Given the description of an element on the screen output the (x, y) to click on. 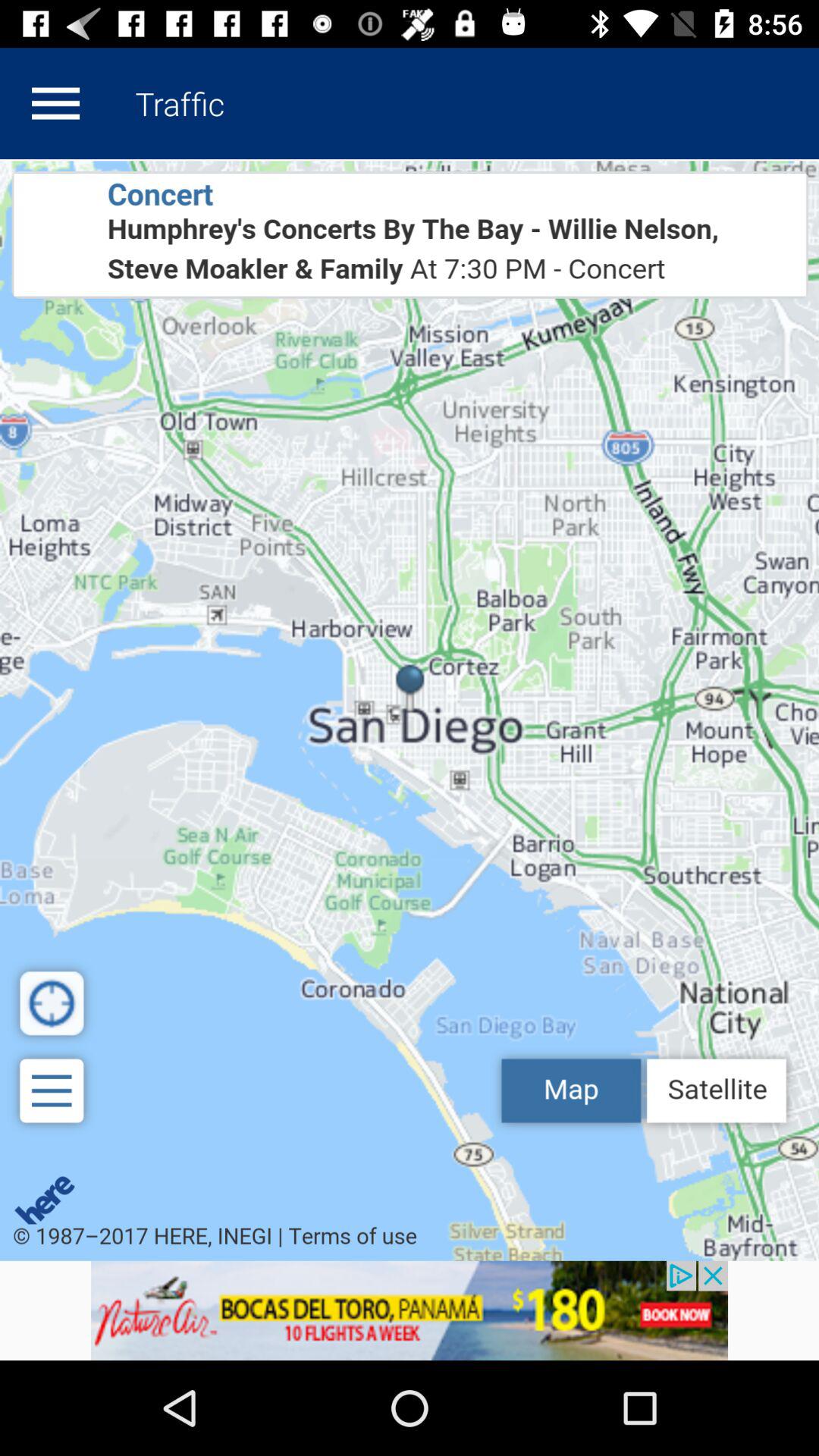
open map (409, 709)
